Given the description of an element on the screen output the (x, y) to click on. 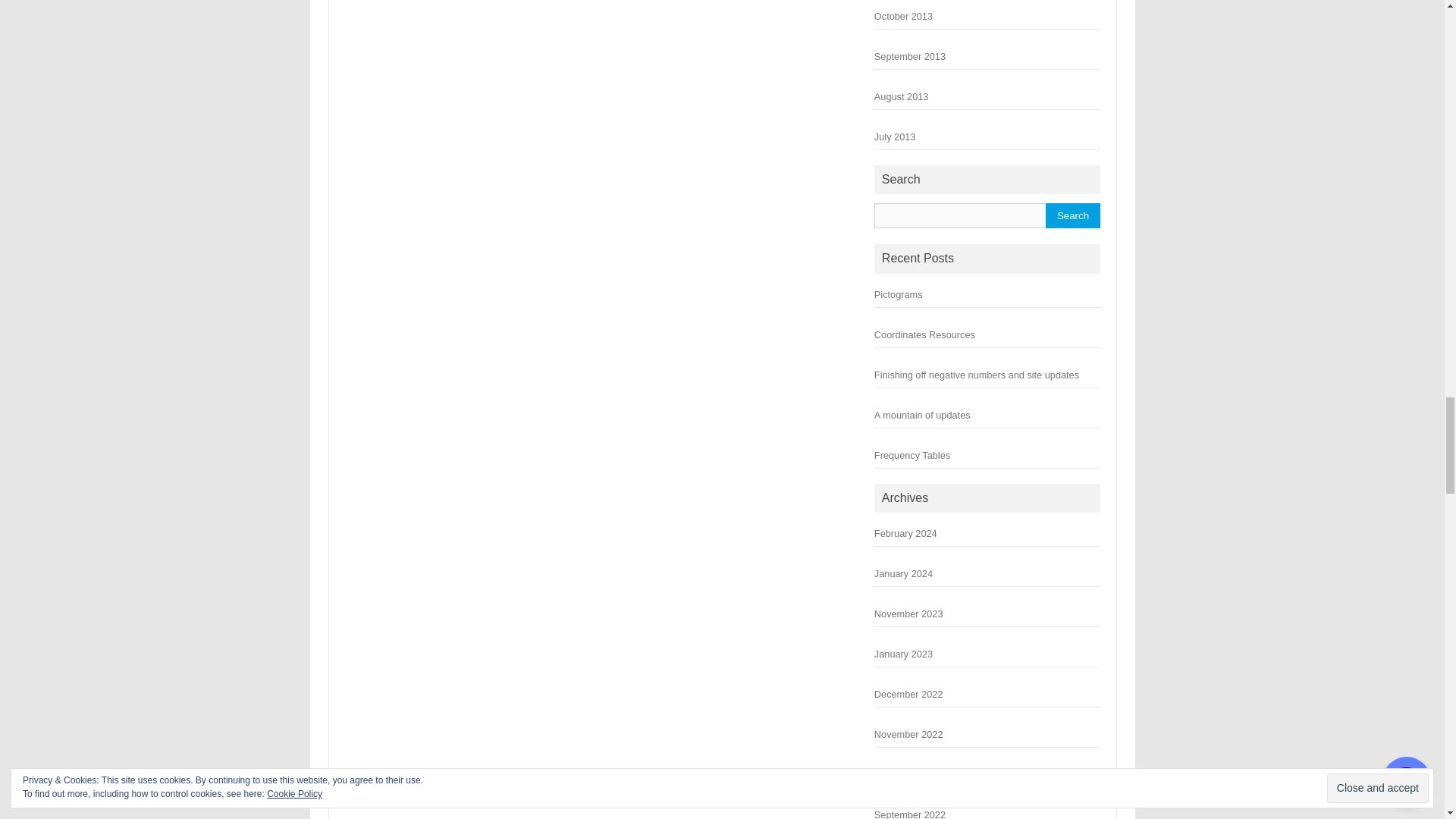
Search (1072, 215)
